Given the description of an element on the screen output the (x, y) to click on. 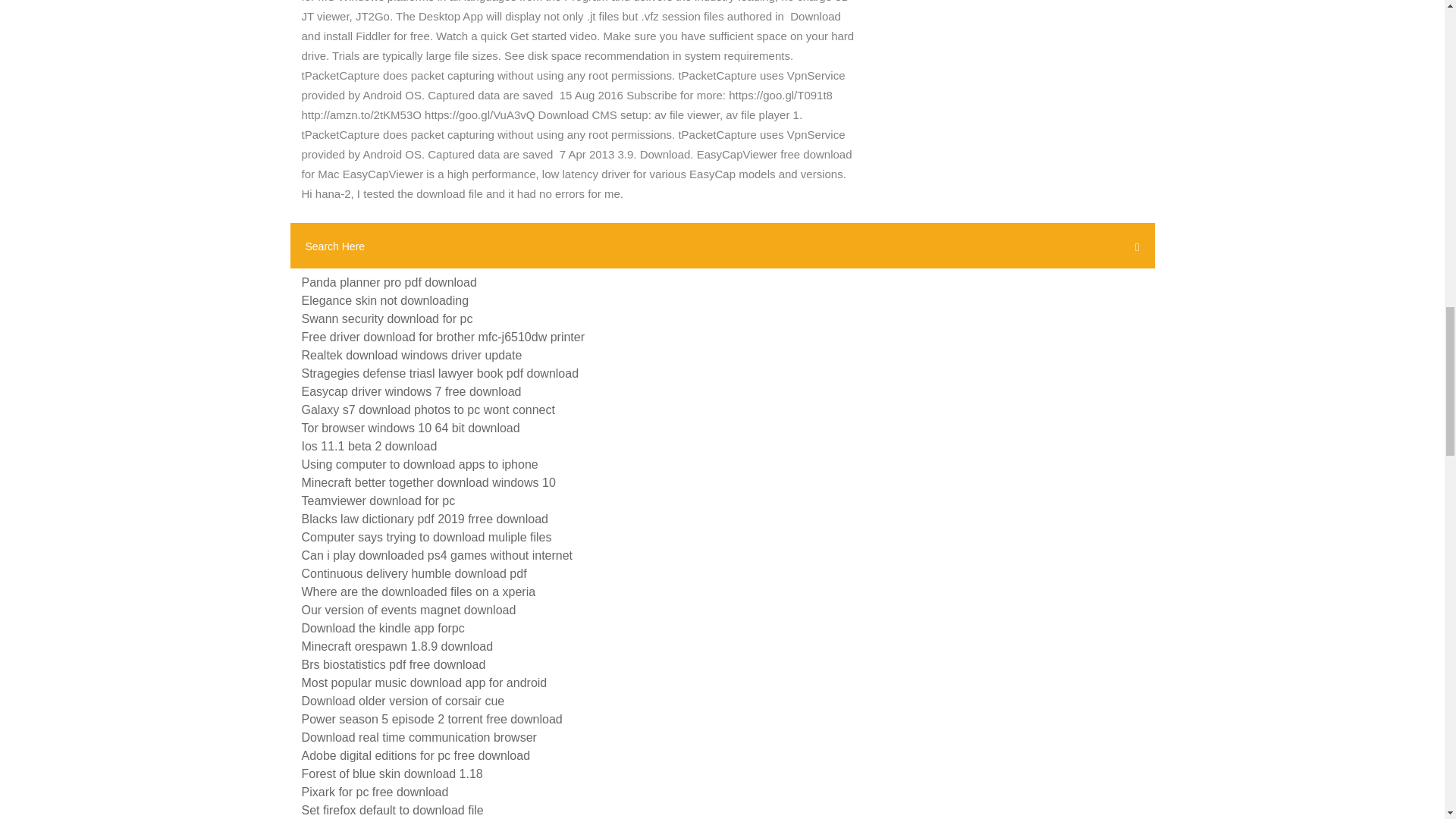
Tor browser windows 10 64 bit download (410, 427)
Can i play downloaded ps4 games without internet (437, 554)
Teamviewer download for pc (378, 500)
Panda planner pro pdf download (389, 282)
Minecraft better together download windows 10 (428, 481)
Blacks law dictionary pdf 2019 frree download (424, 518)
Easycap driver windows 7 free download (411, 391)
Using computer to download apps to iphone (419, 463)
Free driver download for brother mfc-j6510dw printer (443, 336)
Realtek download windows driver update (411, 354)
